Given the description of an element on the screen output the (x, y) to click on. 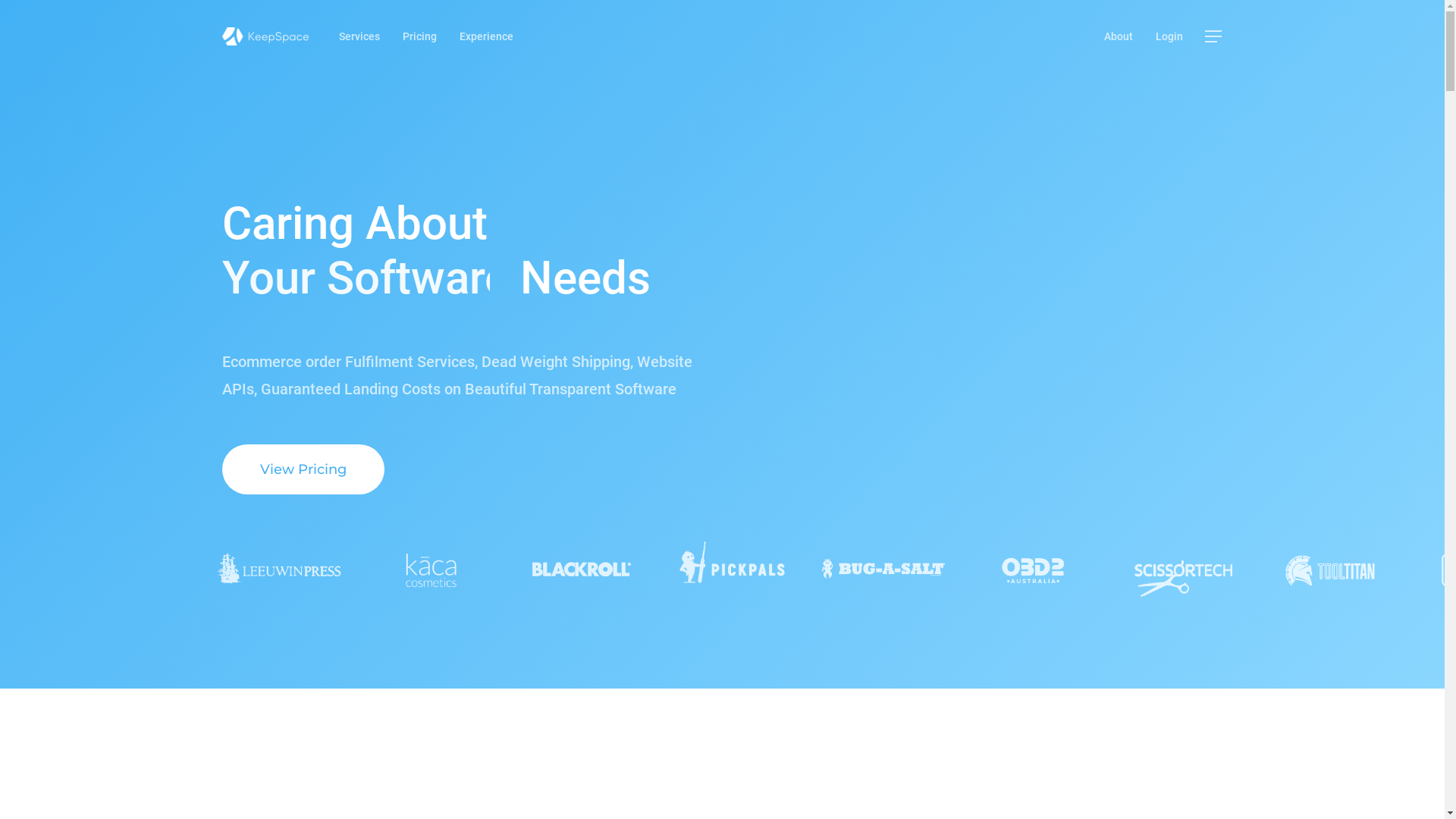
View Pricing Element type: text (303, 469)
Login Element type: text (1169, 35)
Experience Element type: text (486, 35)
About Element type: text (1118, 35)
Services Element type: text (358, 35)
Menu Element type: text (1213, 36)
Pricing Element type: text (419, 35)
